Given the description of an element on the screen output the (x, y) to click on. 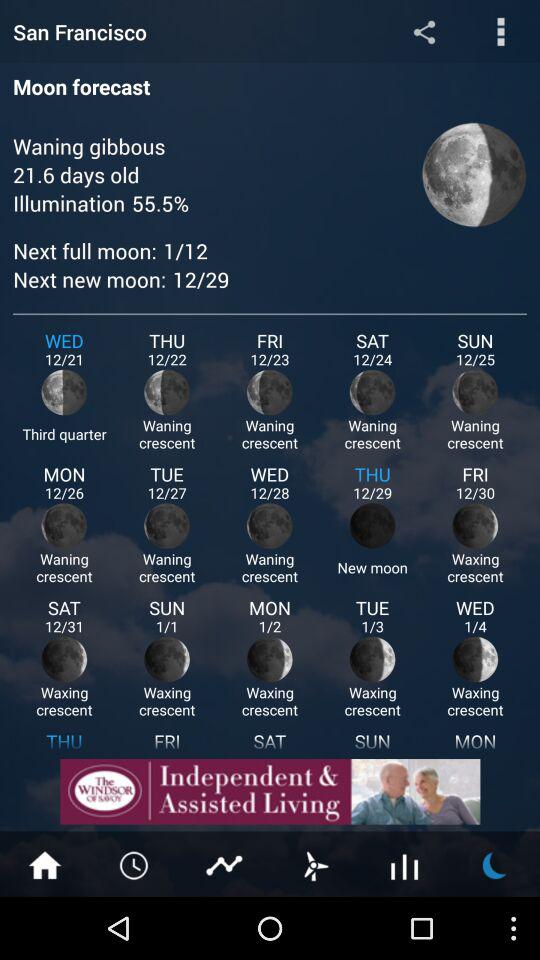
moon cycles (495, 864)
